Given the description of an element on the screen output the (x, y) to click on. 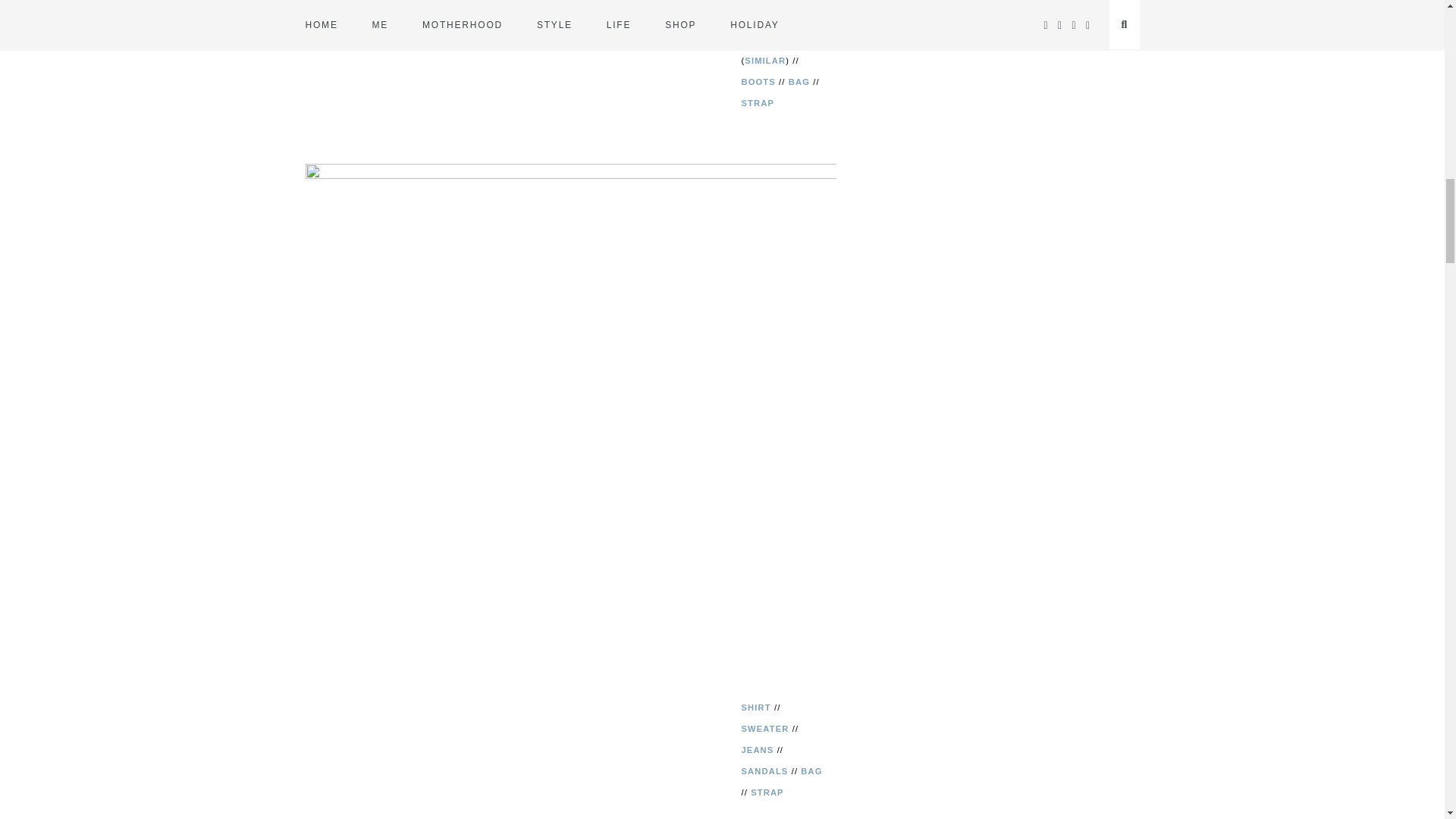
JEANS (757, 39)
SWEATER (765, 17)
SIMILAR (765, 60)
